Given the description of an element on the screen output the (x, y) to click on. 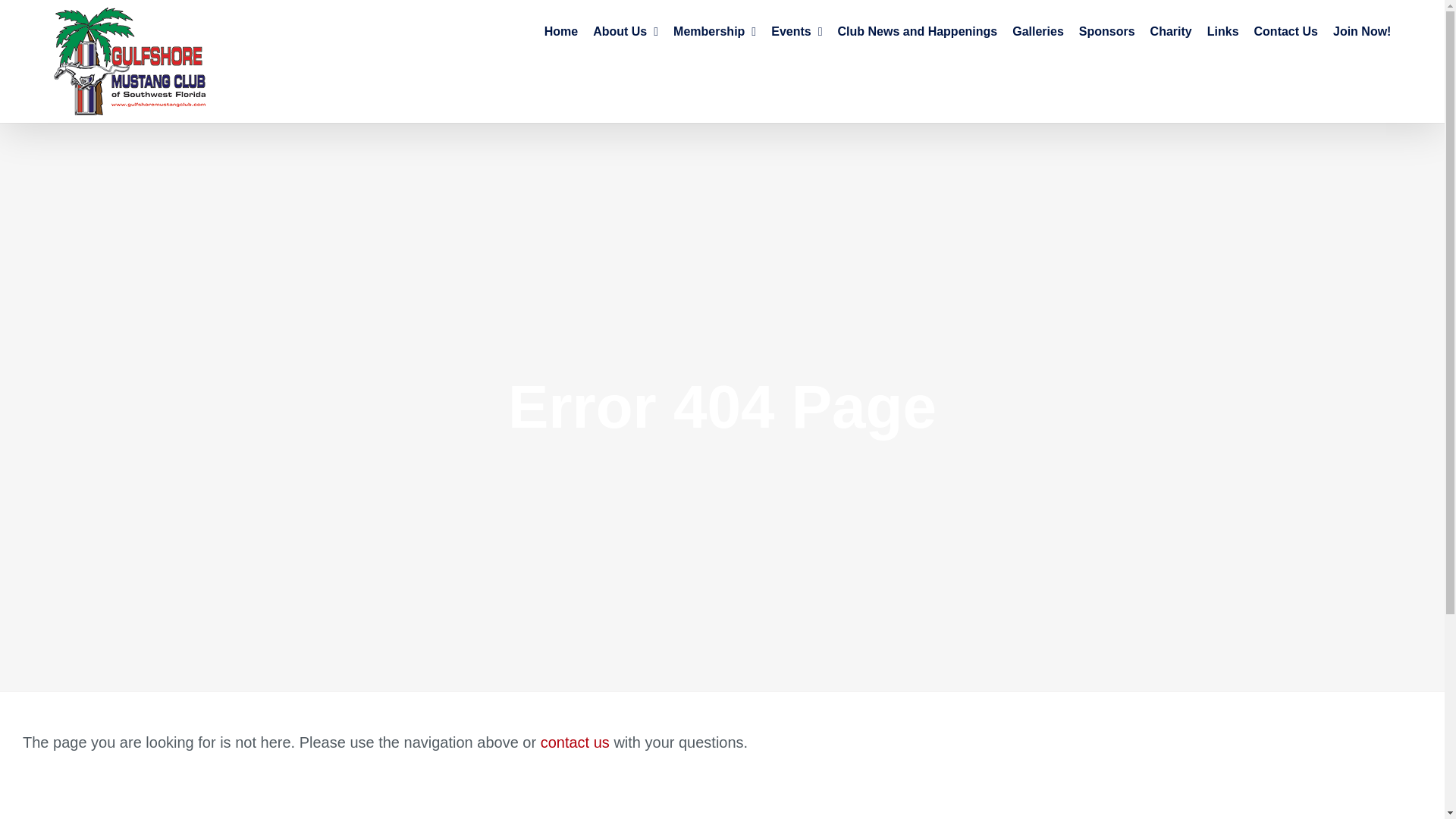
Membership (713, 31)
Club News and Happenings (917, 31)
Contact Us (1285, 31)
About Us (625, 31)
Join Now! (1361, 31)
